Given the description of an element on the screen output the (x, y) to click on. 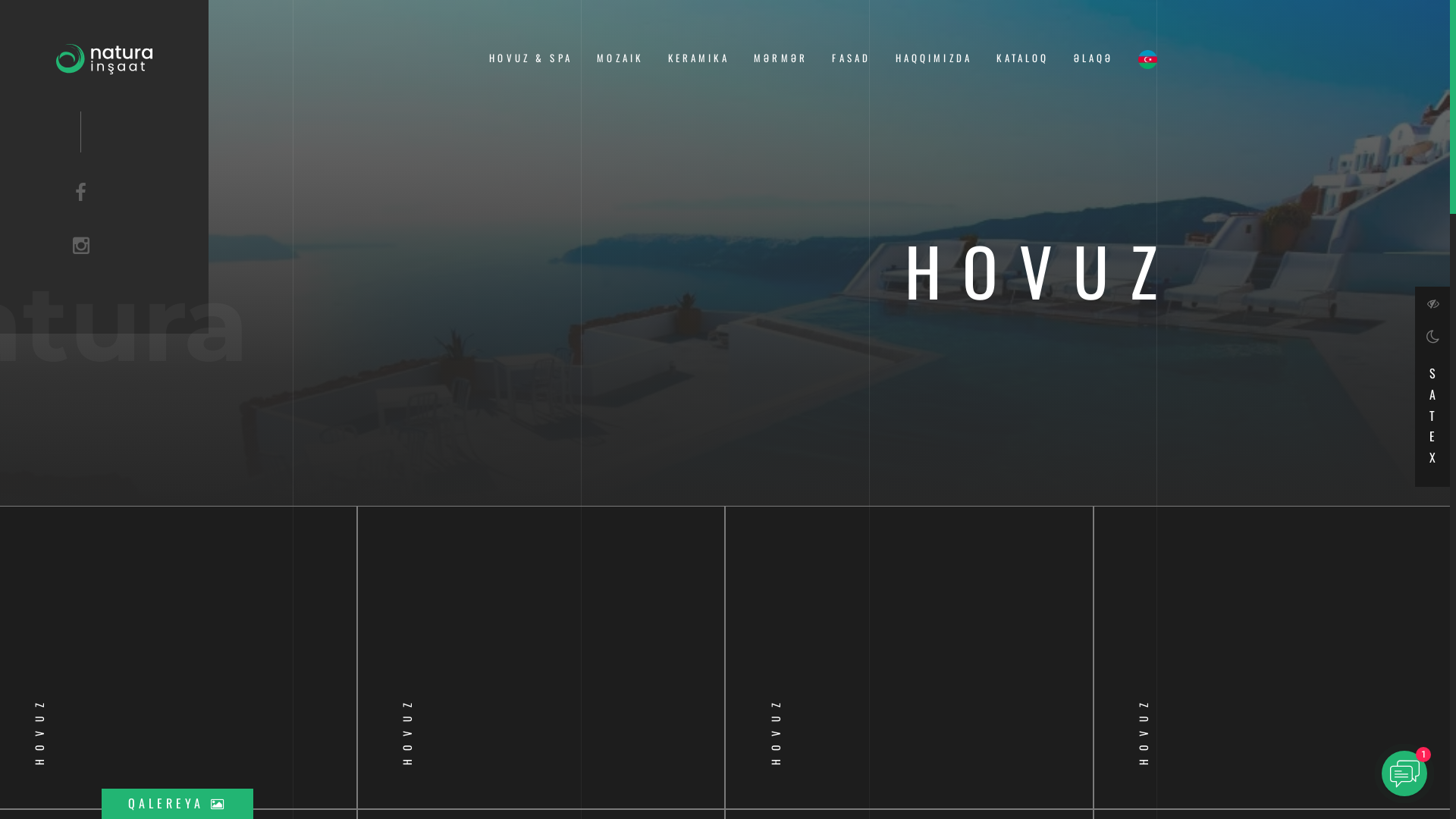
HOVUZ & SPA Element type: text (530, 57)
HAQQIMIZDA Element type: text (933, 57)
KERAMIKA Element type: text (698, 57)
QALEREYA Element type: text (177, 802)
KATALOQ Element type: text (1022, 57)
HOVUZ Element type: text (540, 657)
HOVUZ Element type: text (908, 657)
MOZAIK Element type: text (619, 57)
FASAD Element type: text (850, 57)
S
A
T
E
X Element type: text (1432, 411)
